Given the description of an element on the screen output the (x, y) to click on. 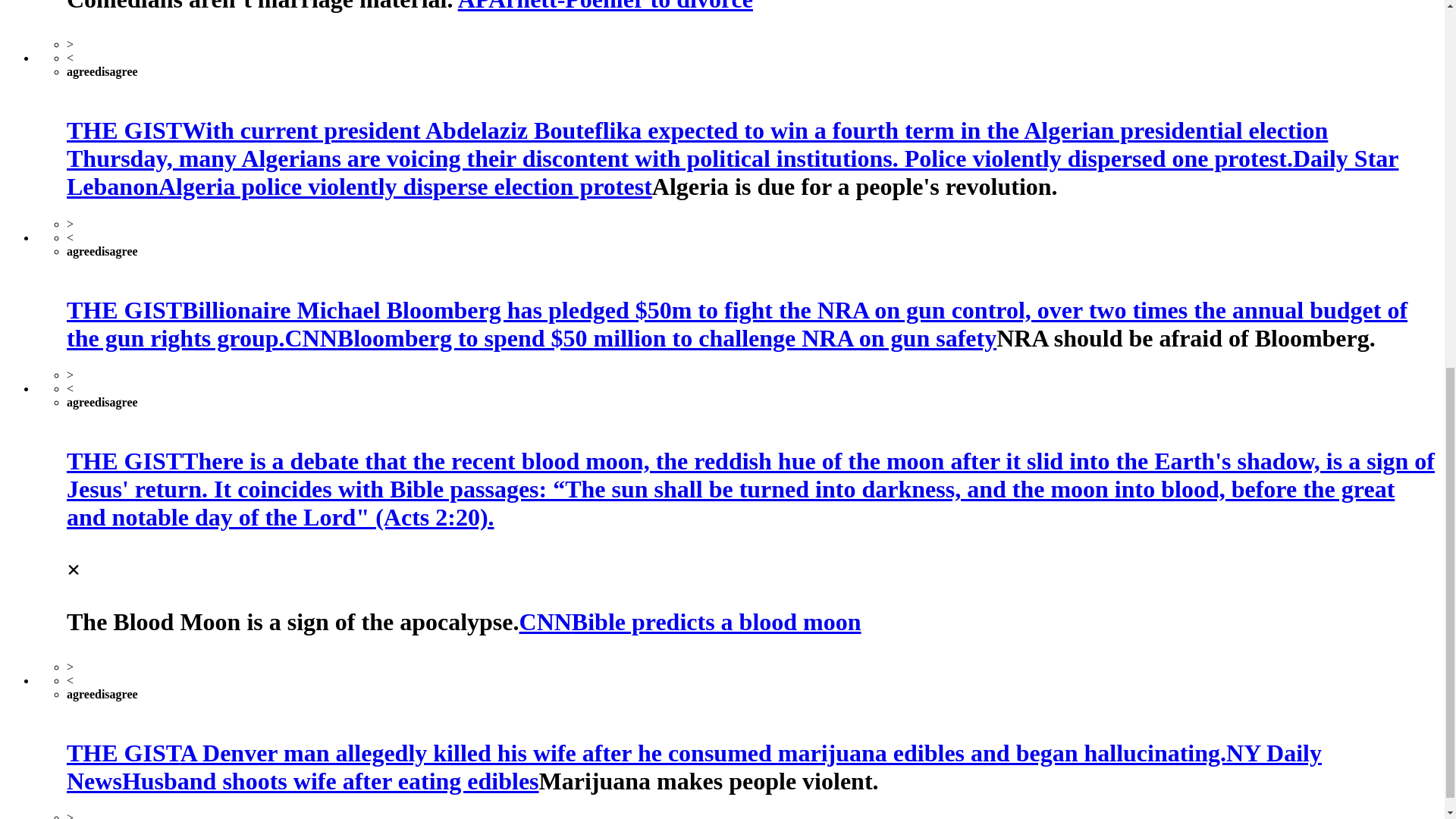
agree (80, 250)
disagree (116, 250)
agree (80, 71)
agree (80, 694)
disagree (116, 694)
agree (80, 401)
APArnett-Poehler to divorce (605, 6)
CNNBible predicts a blood moon (690, 621)
disagree (116, 401)
